Given the description of an element on the screen output the (x, y) to click on. 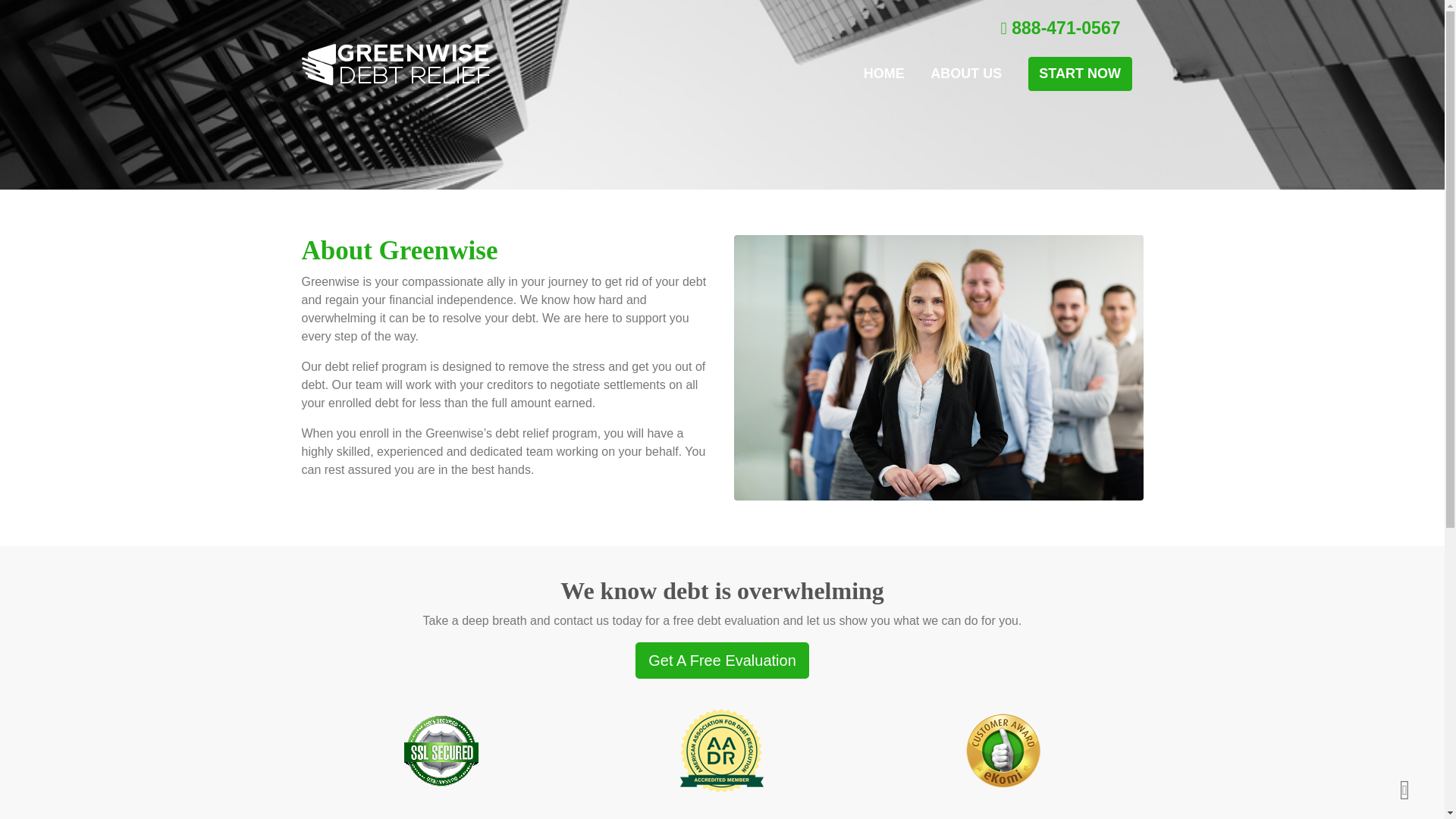
Get A Free Evaluation (721, 660)
ABOUT US (965, 72)
START NOW (1079, 73)
HOME (883, 72)
888-471-0567 (1059, 27)
